Given the description of an element on the screen output the (x, y) to click on. 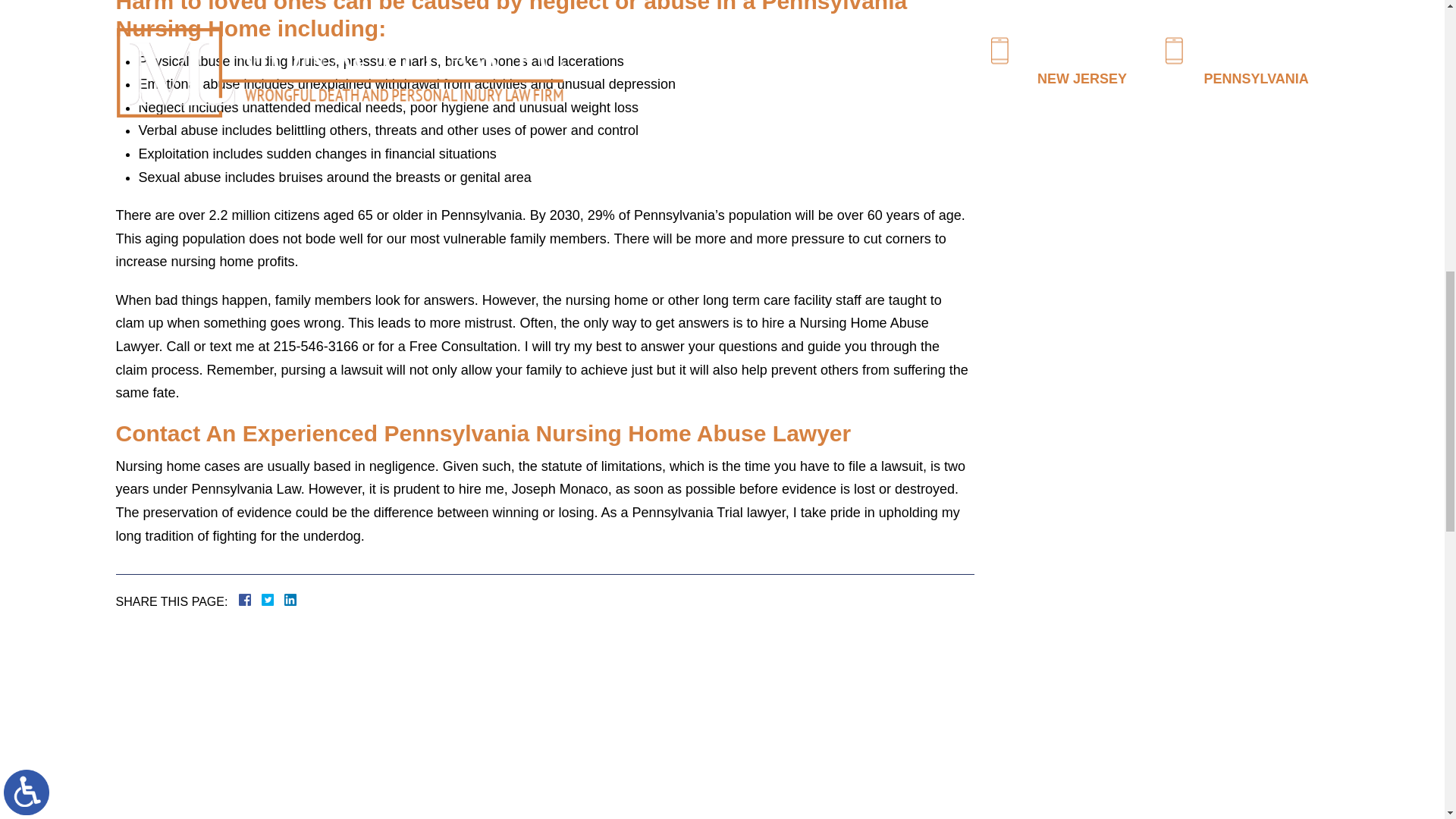
Facebook (262, 599)
LinkedIn (284, 599)
Twitter (273, 599)
